Given the description of an element on the screen output the (x, y) to click on. 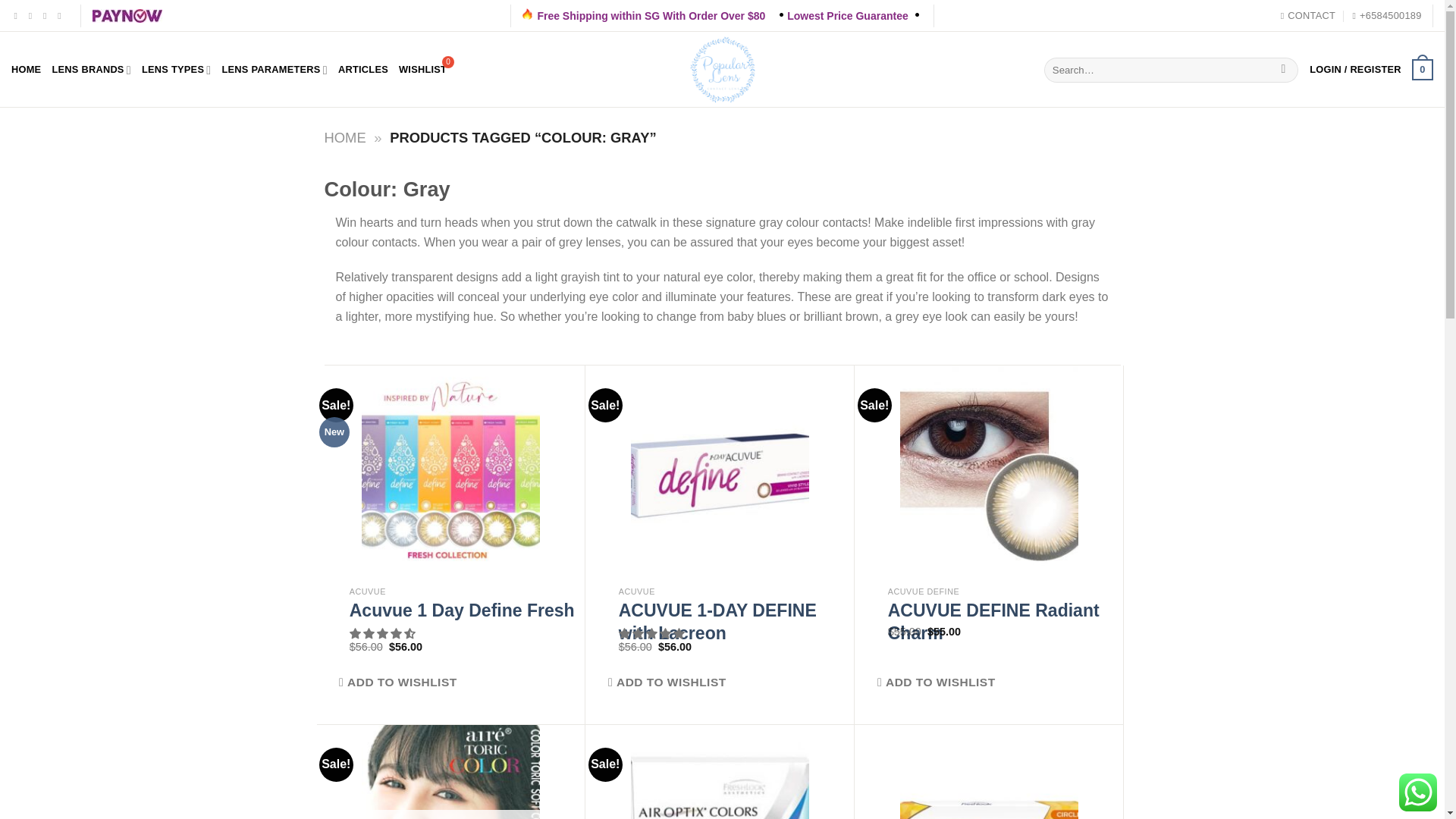
CONTACT (1308, 15)
LENS PARAMETERS (273, 70)
Popular Lens - Popularlens Online Contact Lens (722, 69)
LENS TYPES (176, 70)
HOME (25, 69)
LENS BRANDS (90, 70)
